Given the description of an element on the screen output the (x, y) to click on. 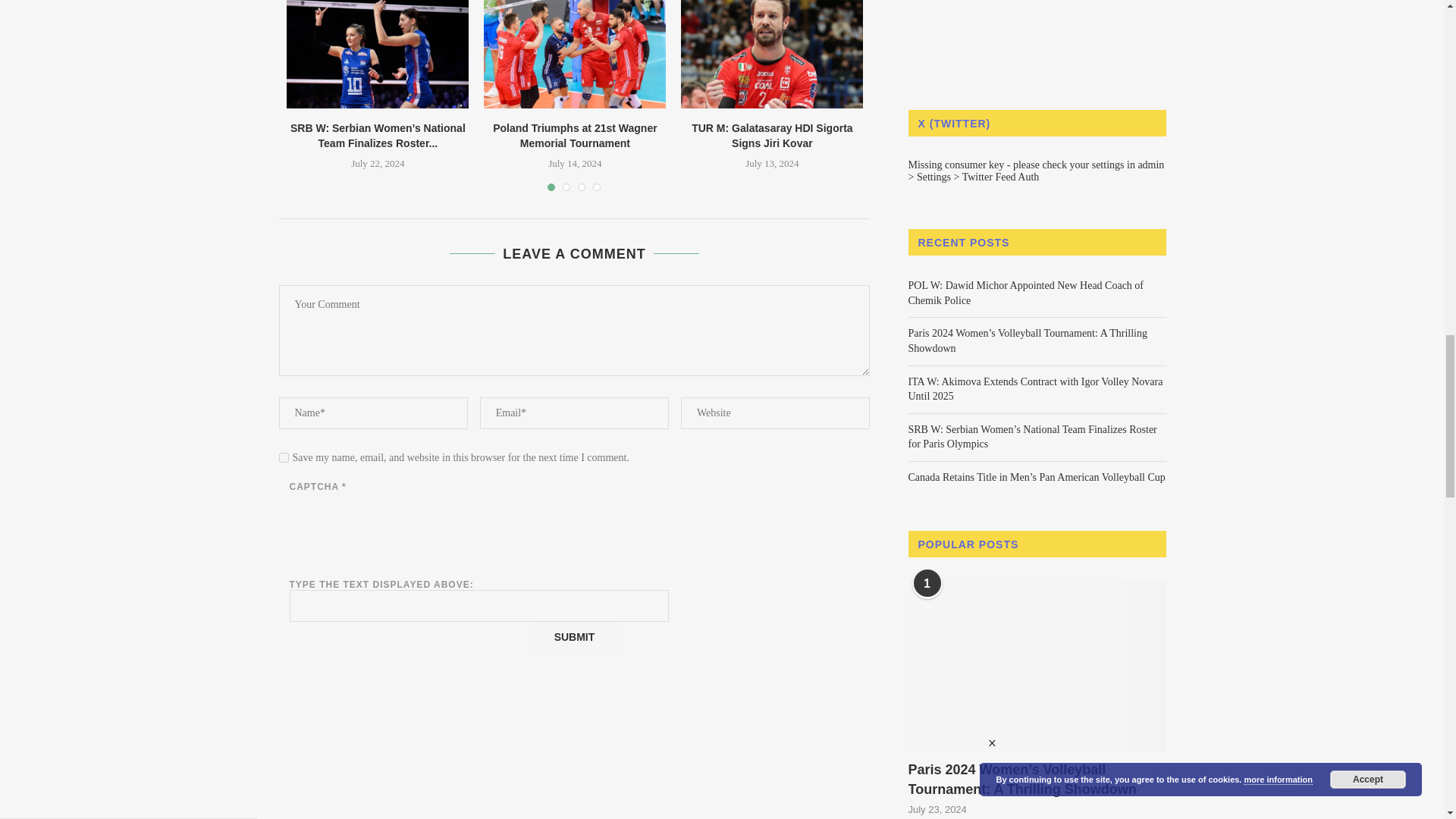
Submit (574, 636)
TUR M: Galatasaray HDI Sigorta Signs Jiri Kovar (772, 54)
Poland Triumphs at 21st Wagner Memorial Tournament (574, 54)
yes (283, 457)
